Given the description of an element on the screen output the (x, y) to click on. 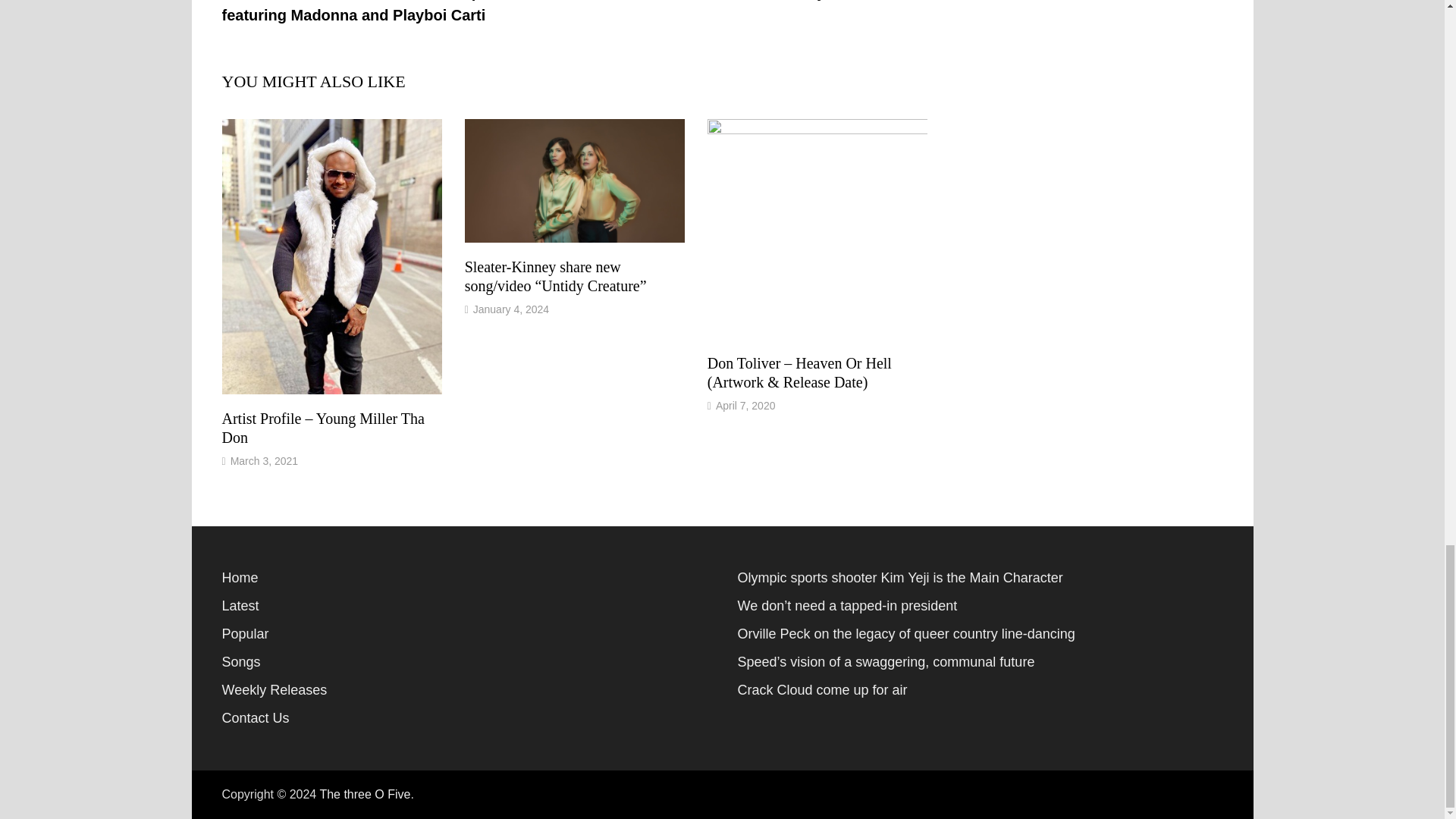
March 3, 2021 (264, 460)
January 4, 2024 (510, 309)
The three O Five (364, 793)
April 7, 2020 (746, 405)
